Given the description of an element on the screen output the (x, y) to click on. 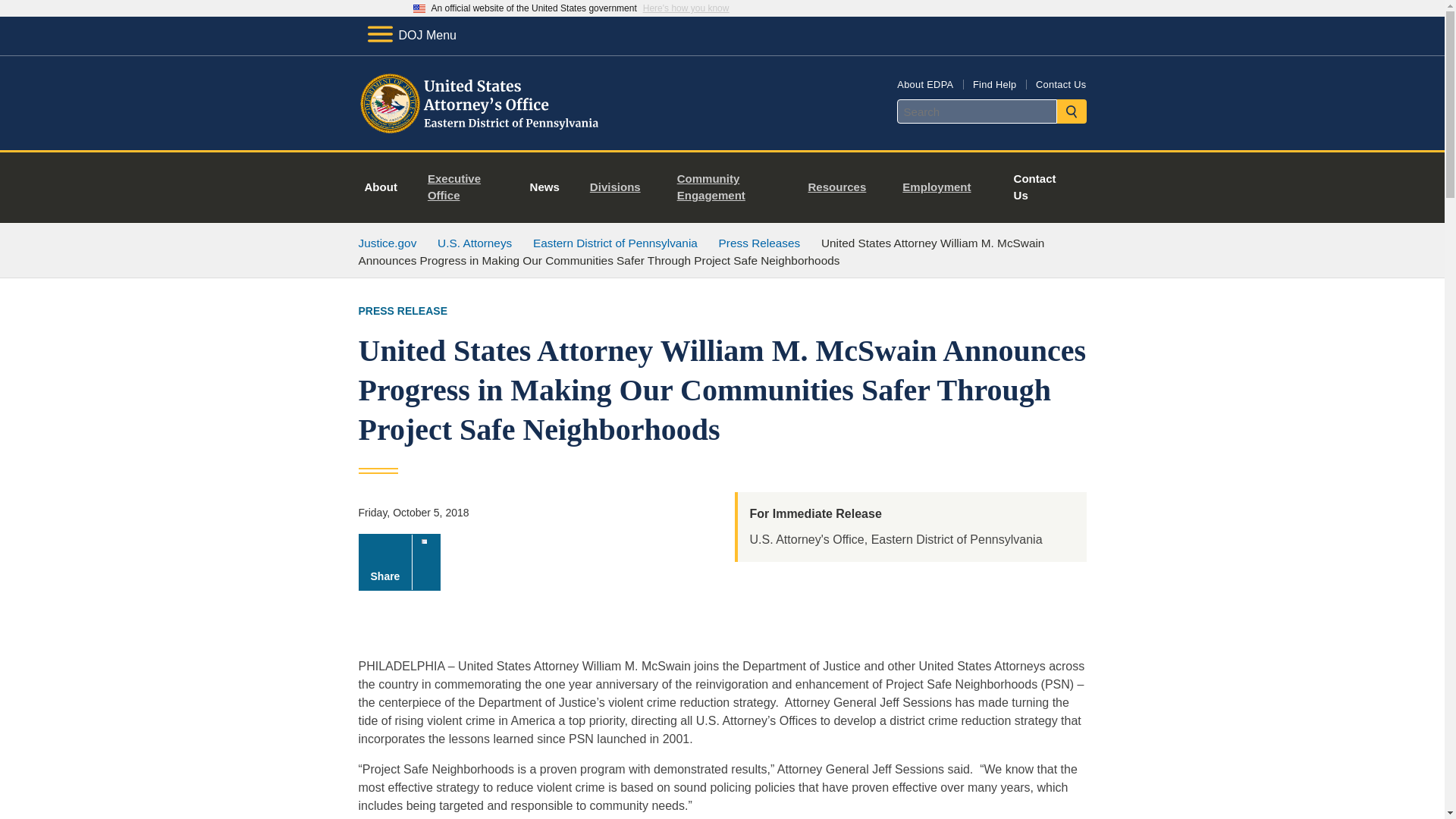
Find Help (994, 84)
Contact Us (1060, 84)
U.S. Attorneys (475, 242)
News (545, 187)
Share (398, 561)
Home (481, 132)
Contact Us (1034, 187)
Divisions (621, 187)
Justice.gov (387, 242)
Press Releases (759, 242)
